Given the description of an element on the screen output the (x, y) to click on. 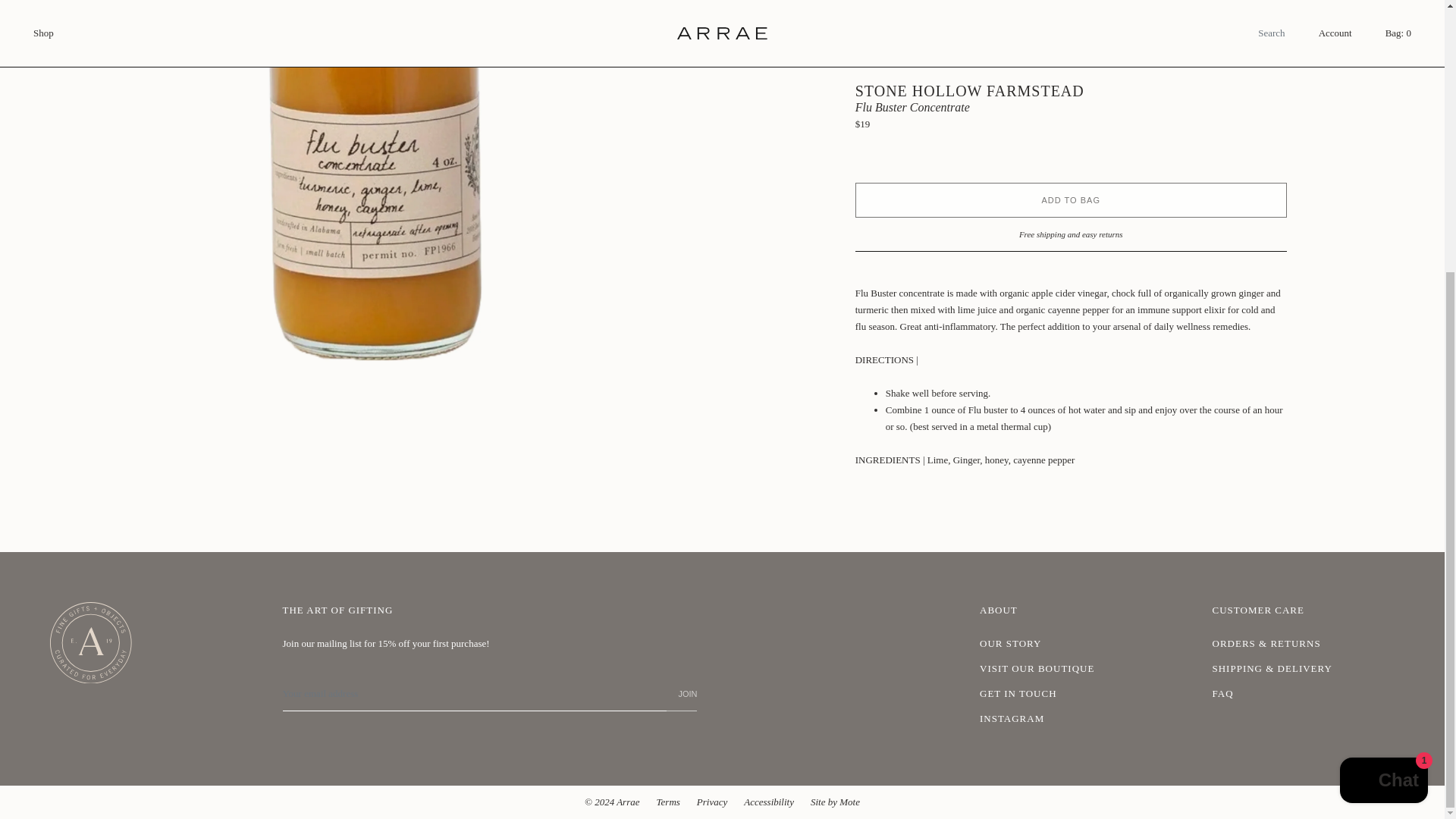
Shopify online store chat (1383, 382)
Email (473, 694)
